Given the description of an element on the screen output the (x, y) to click on. 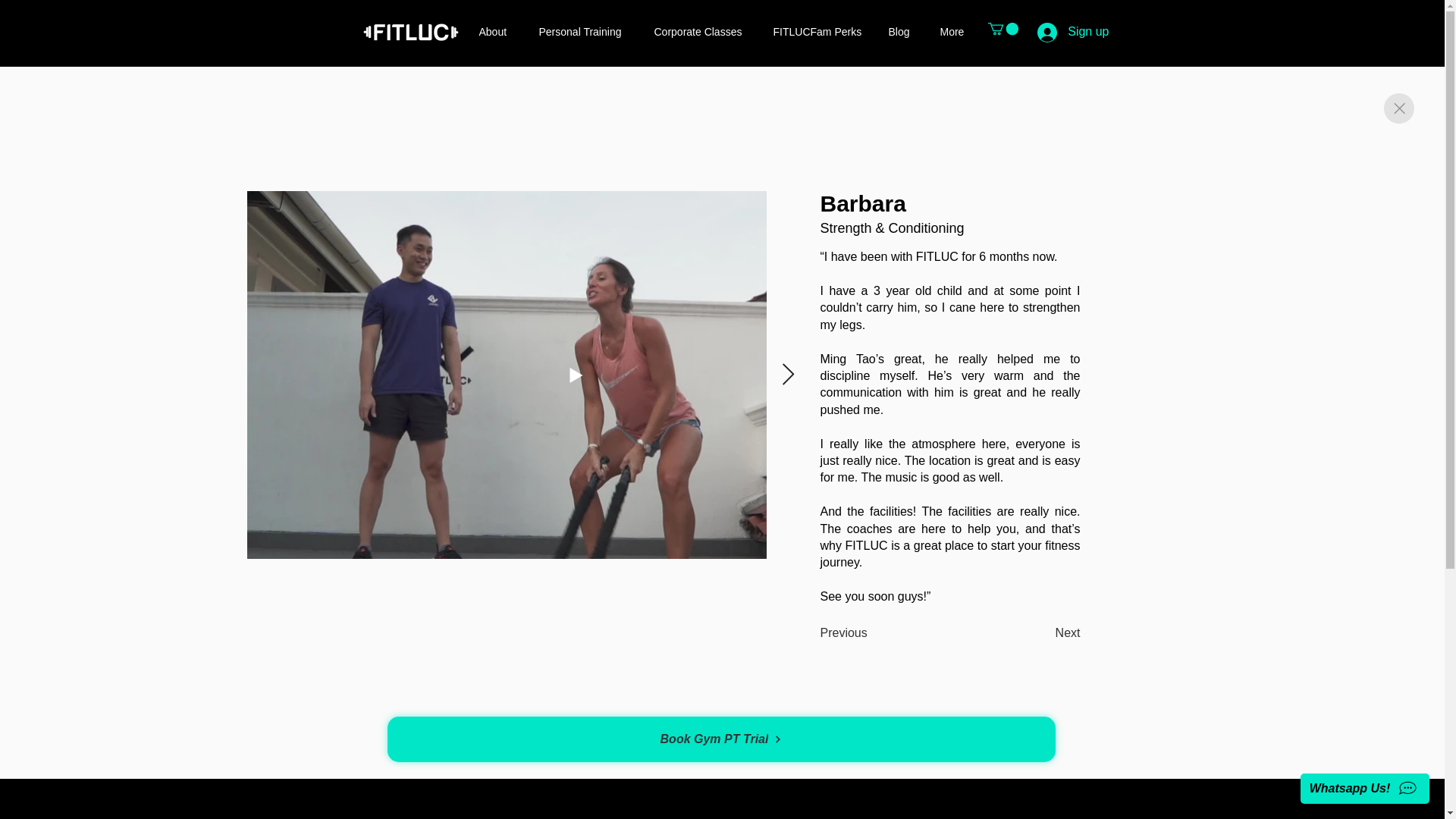
Book Gym PT Trial (720, 739)
Whatsapp Us! (1364, 788)
Corporate Classes (702, 32)
FITLUCFam Perks (818, 32)
Previous (844, 634)
Sign up (1072, 32)
About (497, 32)
Personal Training (585, 32)
